Given the description of an element on the screen output the (x, y) to click on. 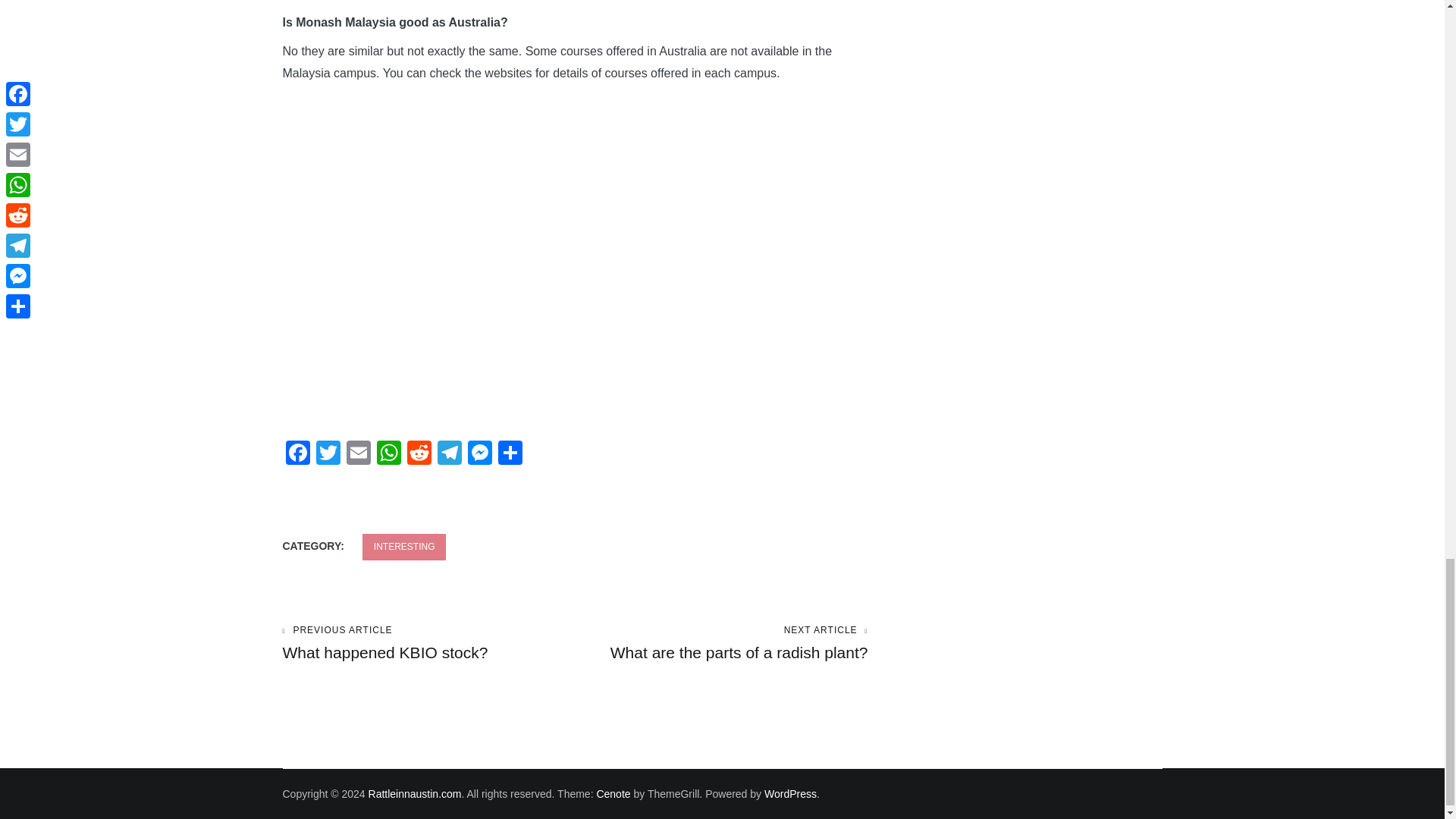
Messenger (479, 454)
Telegram (448, 454)
Facebook (297, 454)
Email (357, 454)
Telegram (448, 454)
Messenger (479, 454)
Rattleinnaustin.com (414, 793)
INTERESTING (404, 546)
WhatsApp (387, 454)
Email (357, 454)
Reddit (418, 454)
WhatsApp (387, 454)
